Given the description of an element on the screen output the (x, y) to click on. 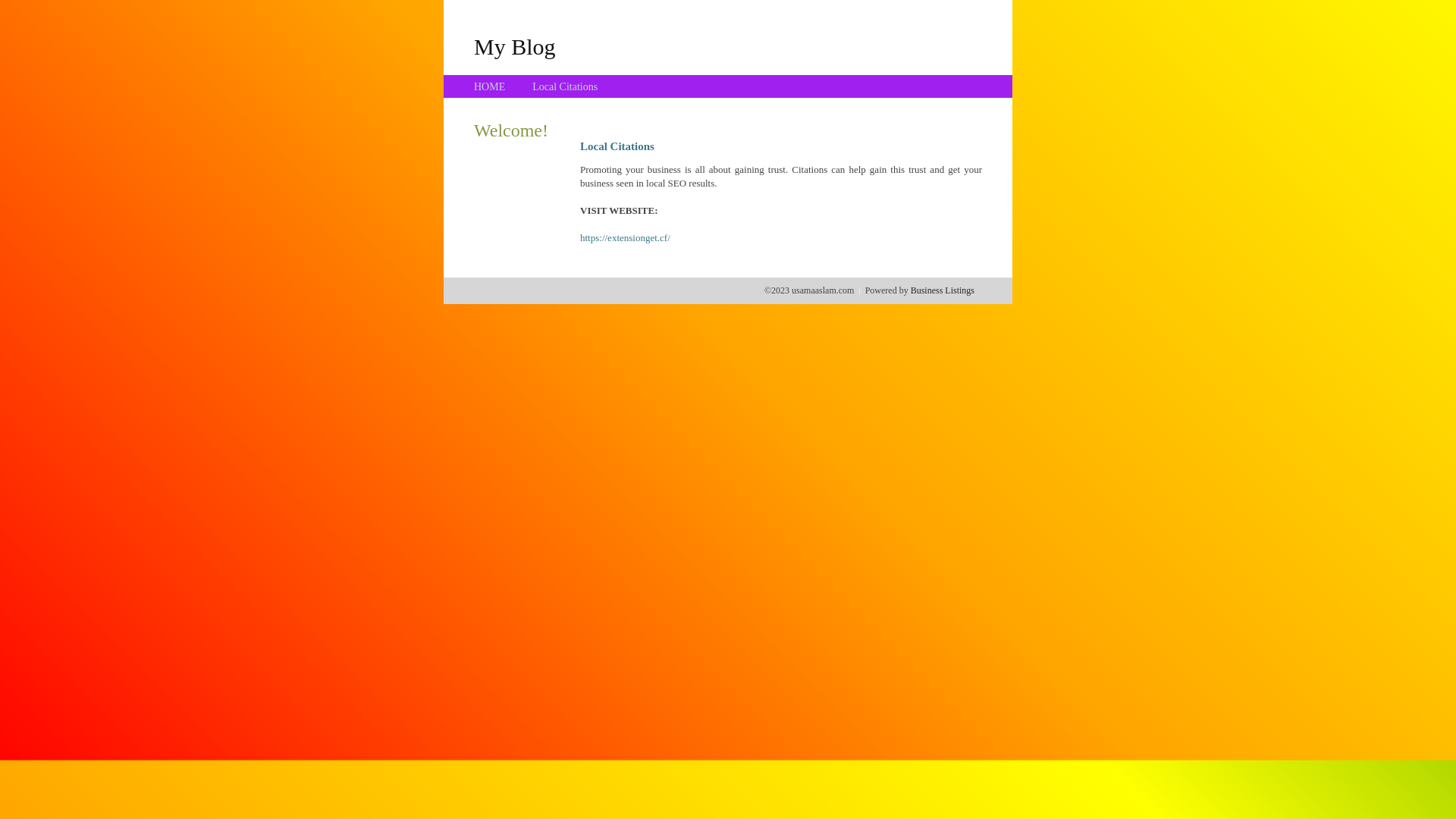
My Blog Element type: text (514, 46)
https://extensionget.cf/ Element type: text (625, 237)
Local Citations Element type: text (564, 86)
HOME Element type: text (489, 86)
Business Listings Element type: text (942, 290)
